Given the description of an element on the screen output the (x, y) to click on. 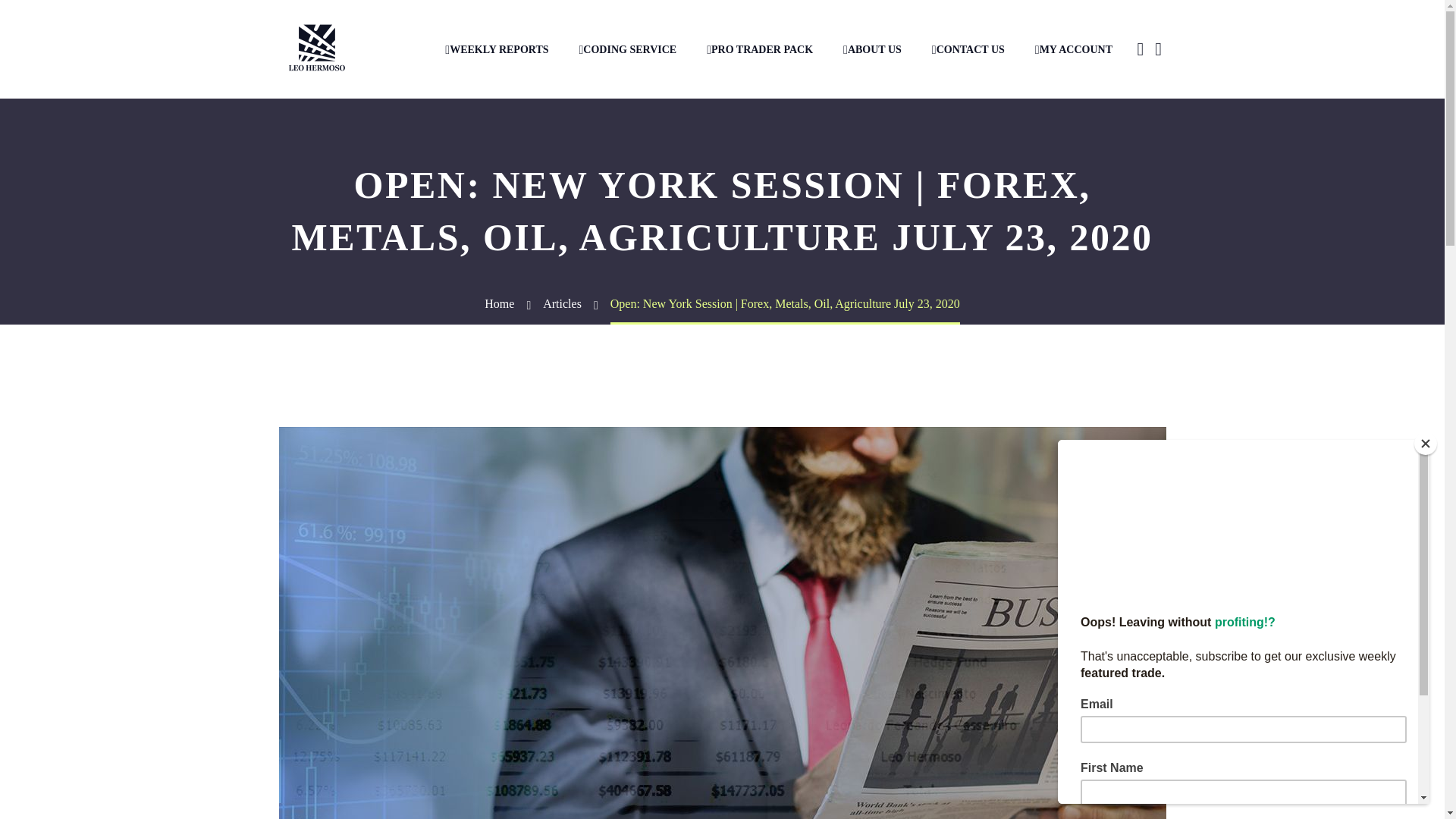
PRO TRADER PACK (759, 49)
CODING SERVICE (628, 49)
Articles (561, 303)
CONTACT US (968, 49)
MY ACCOUNT (1073, 49)
ABOUT US (872, 49)
WEEKLY REPORTS (496, 49)
Home (498, 303)
